Given the description of an element on the screen output the (x, y) to click on. 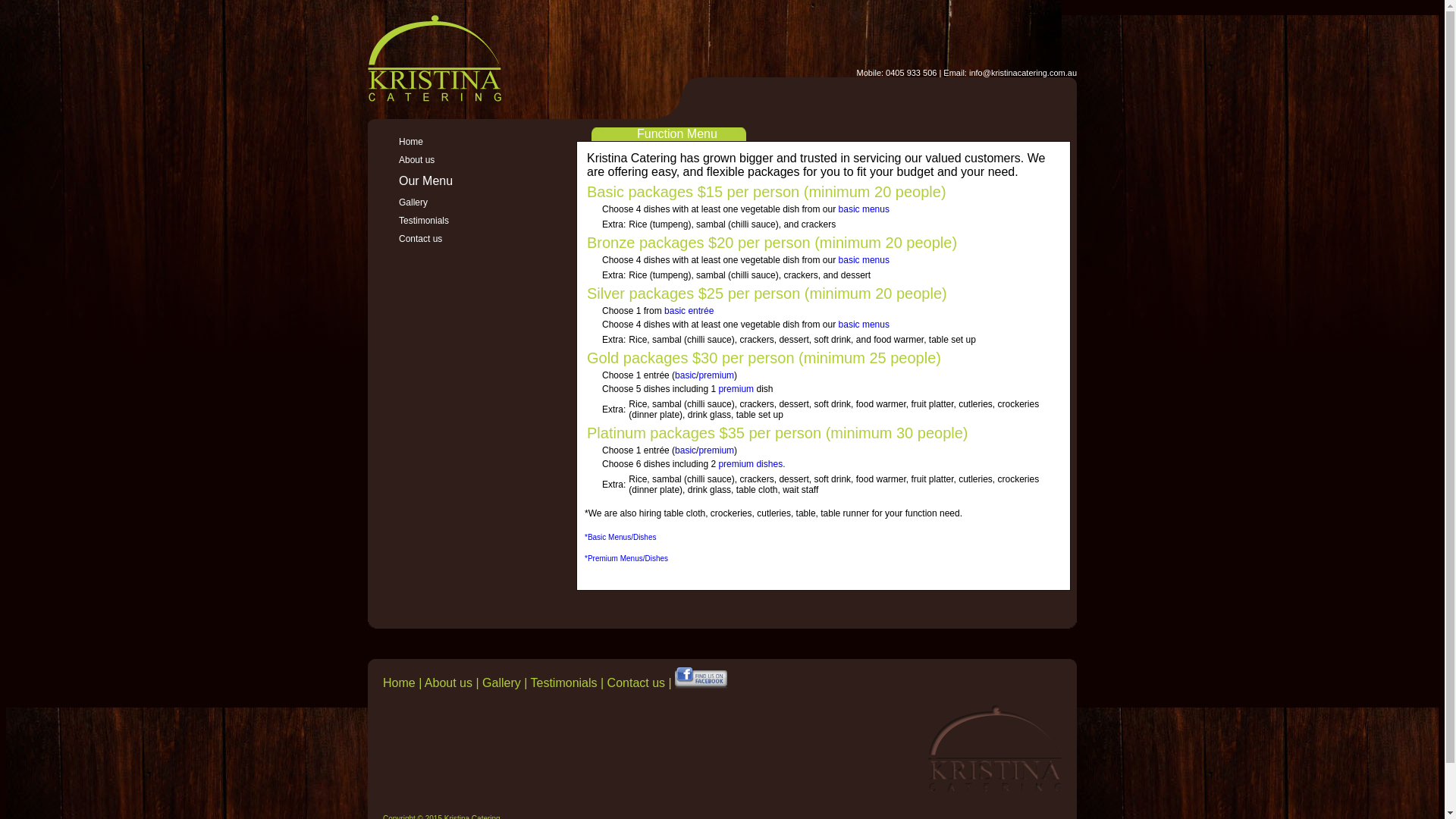
Gallery Element type: text (501, 682)
Gallery Element type: text (464, 202)
*Basic Menus/Dishes Element type: text (619, 537)
Testimonials Element type: text (464, 220)
Contact us Element type: text (636, 682)
Testimonials Element type: text (563, 682)
About us Element type: text (448, 682)
basic menus Element type: text (863, 259)
premium Element type: text (716, 375)
premium Element type: text (735, 388)
premium Element type: text (716, 450)
About us Element type: text (464, 159)
basic Element type: text (685, 450)
Home Element type: text (464, 141)
Contact us Element type: text (464, 238)
basic Element type: text (685, 375)
premium dishes. Element type: text (751, 463)
Our Menu Element type: text (425, 180)
*Premium Menus/Dishes Element type: text (626, 558)
basic menus Element type: text (863, 208)
Home Element type: text (398, 682)
basic menus Element type: text (863, 324)
